Given the description of an element on the screen output the (x, y) to click on. 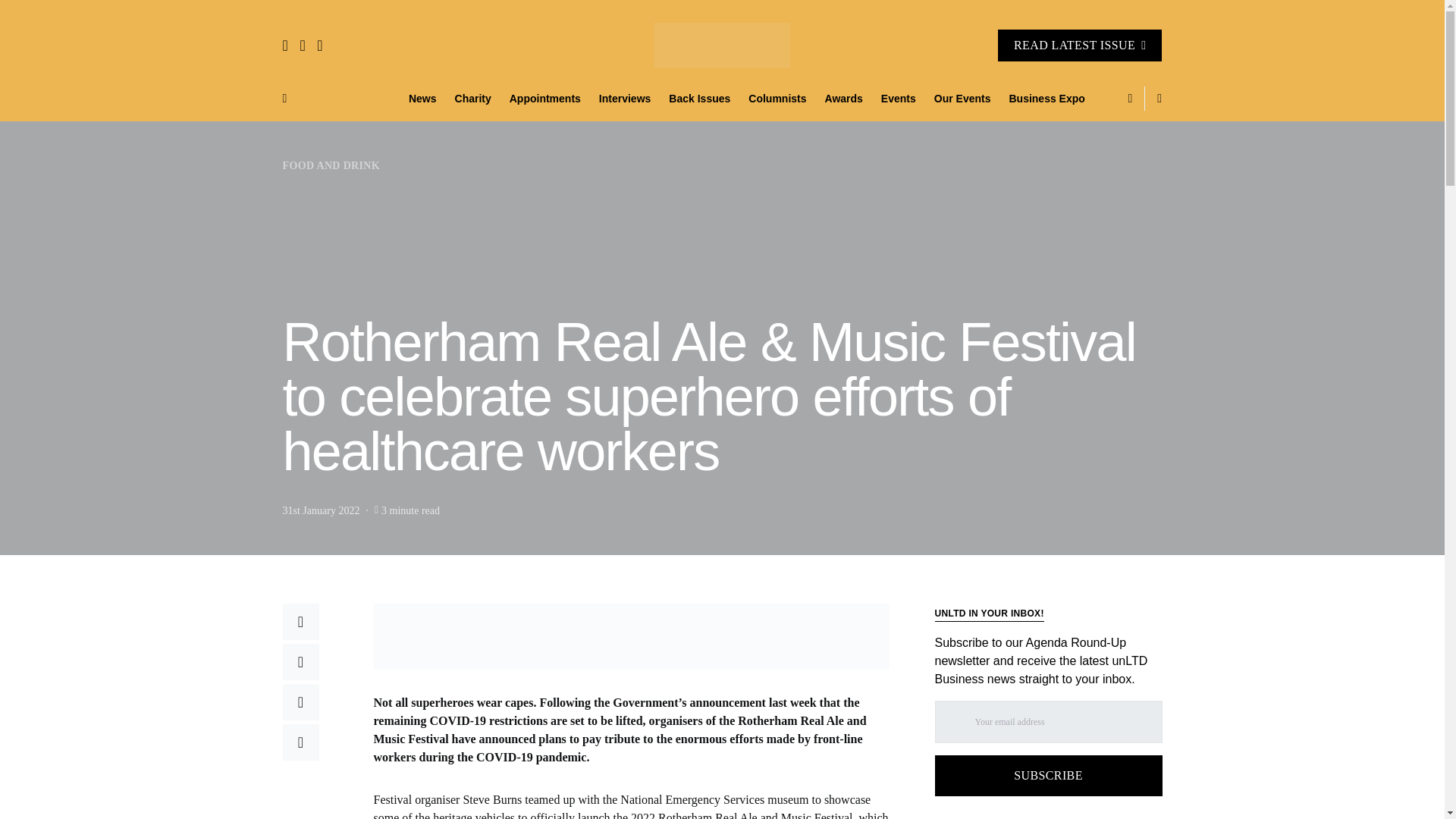
Awards (843, 98)
Events (898, 98)
Charity (472, 98)
Our Events (962, 98)
Columnists (777, 98)
FOOD AND DRINK (331, 165)
Back Issues (699, 98)
Subscribe (1047, 775)
READ LATEST ISSUE (1079, 45)
Interviews (624, 98)
